Given the description of an element on the screen output the (x, y) to click on. 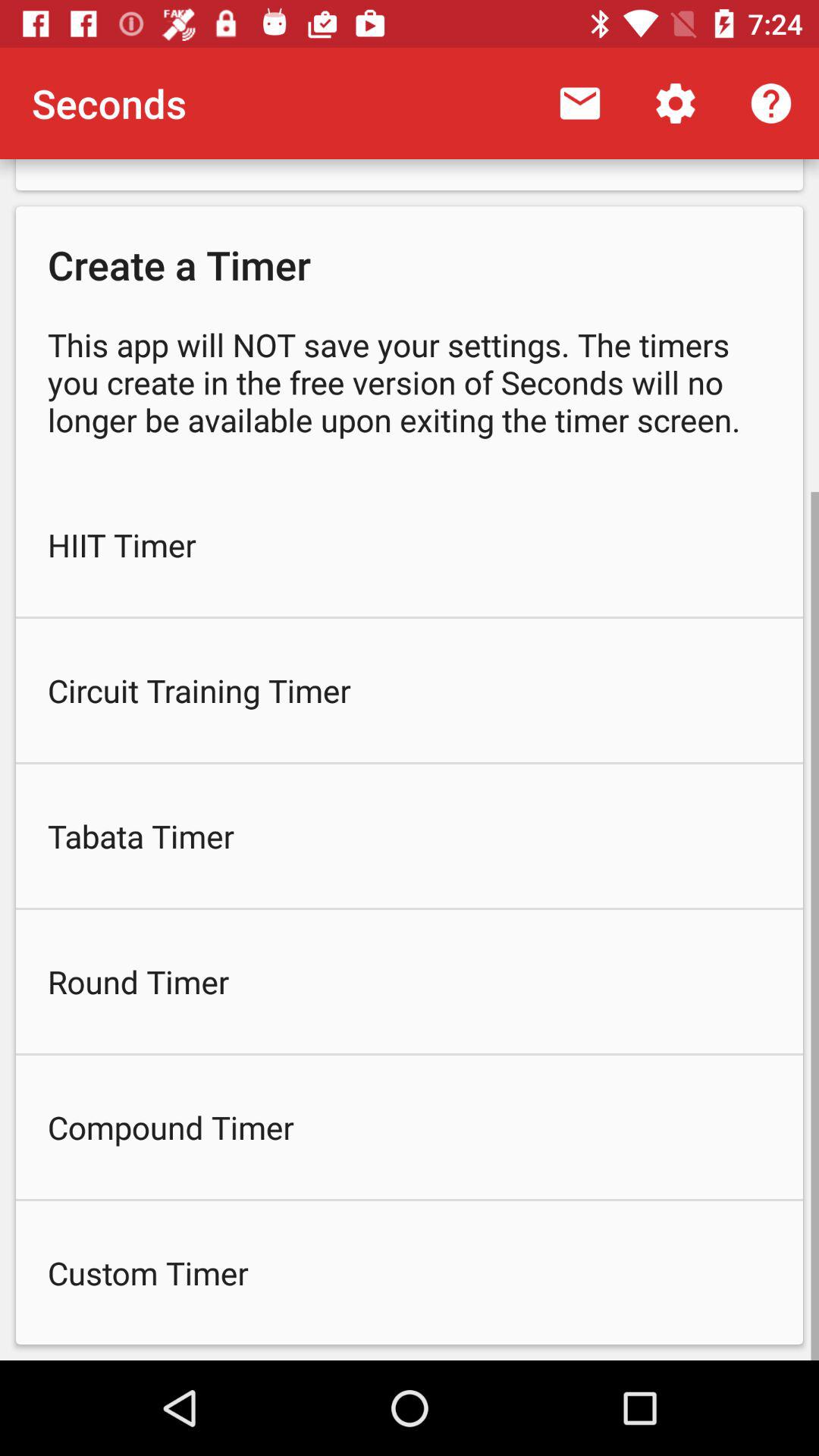
jump to the tabata timer icon (409, 835)
